Given the description of an element on the screen output the (x, y) to click on. 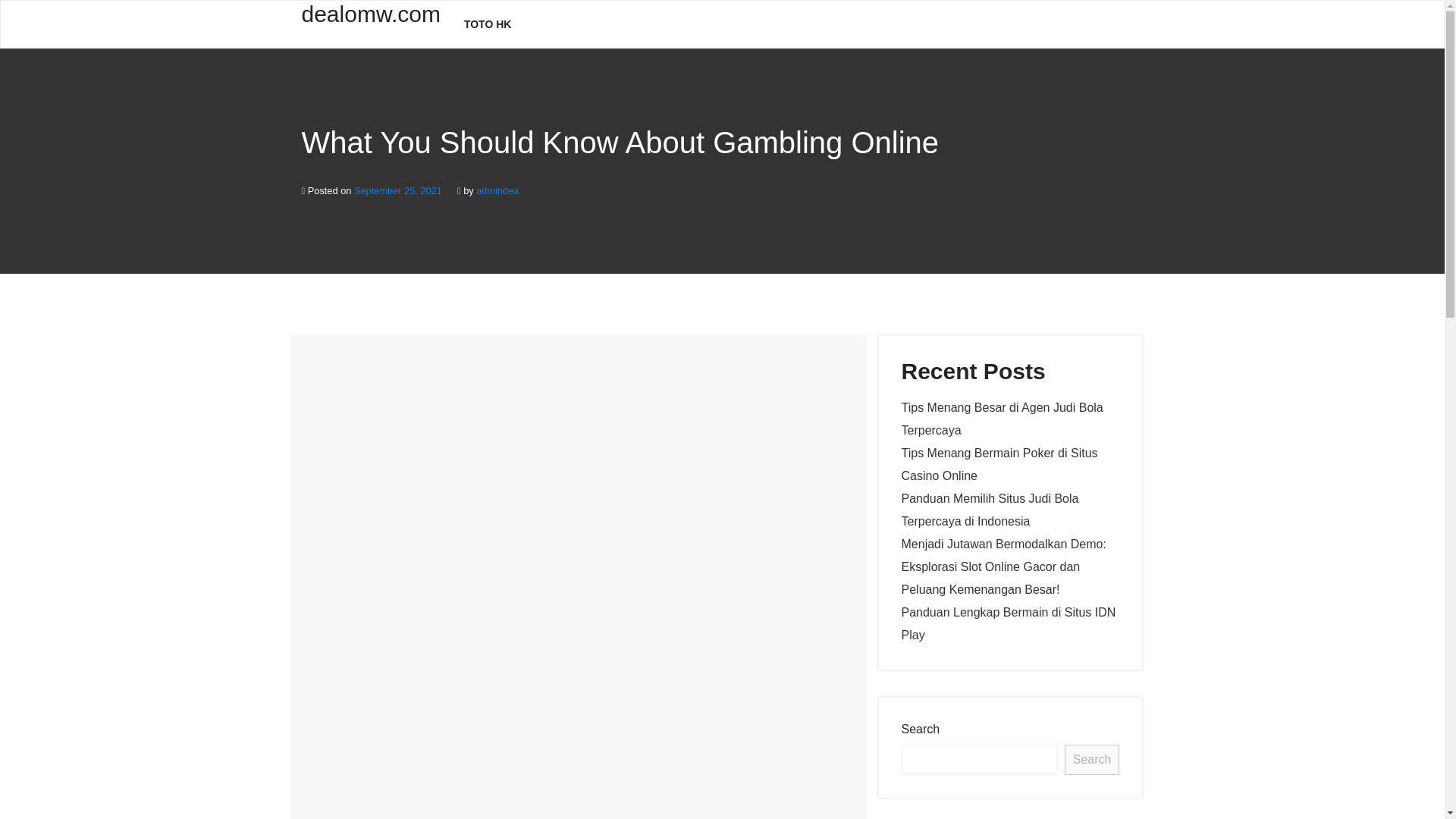
Panduan Lengkap Bermain di Situs IDN Play (1008, 623)
Search (1091, 759)
Toto Hk (487, 23)
TOTO HK (487, 23)
September 25, 2021 (397, 190)
Tips Menang Besar di Agen Judi Bola Terpercaya (1001, 418)
admindea (497, 190)
Panduan Memilih Situs Judi Bola Terpercaya di Indonesia (989, 509)
Tips Menang Bermain Poker di Situs Casino Online (999, 464)
